Given the description of an element on the screen output the (x, y) to click on. 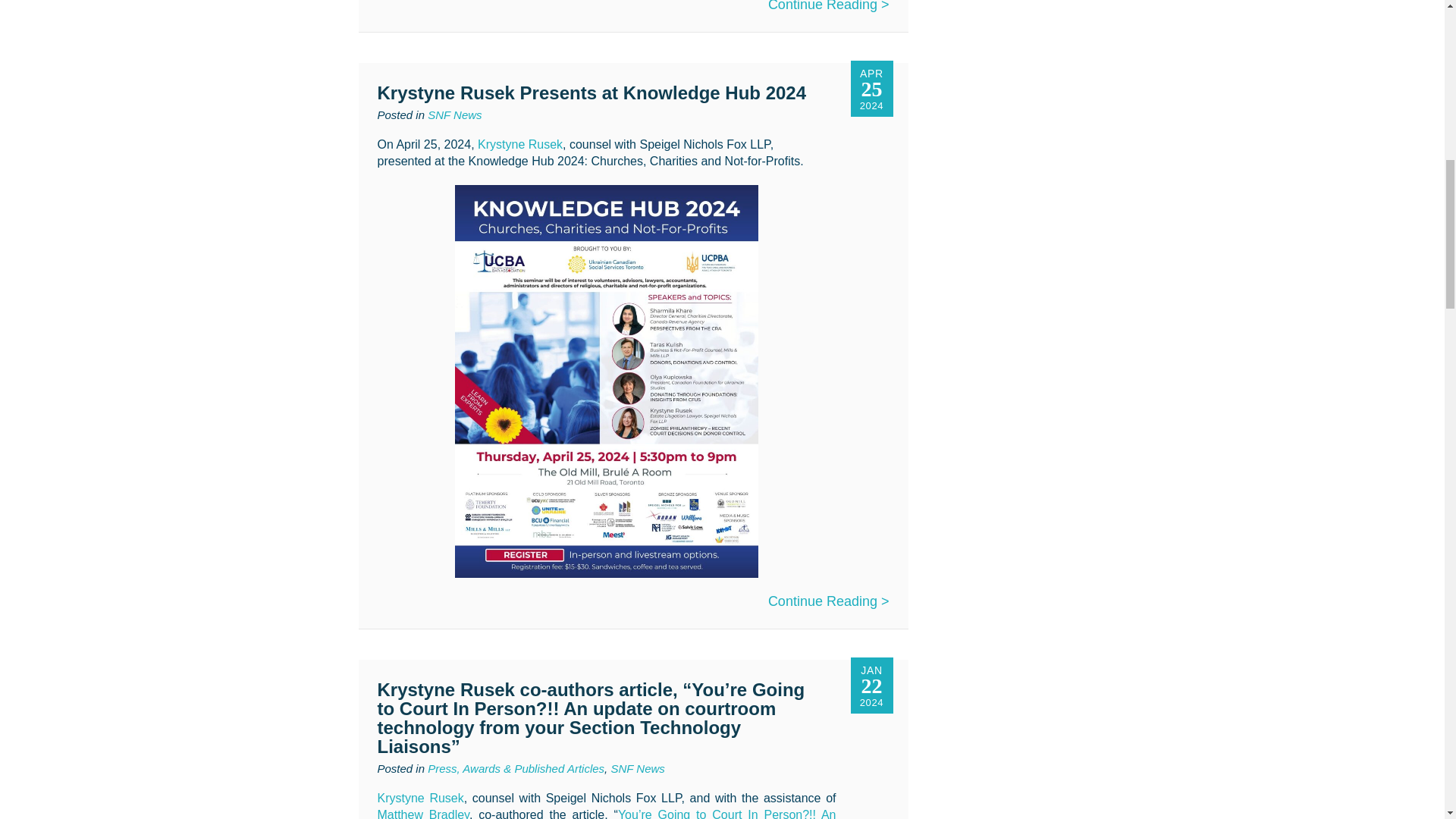
Krystyne Rusek Presents at Knowledge Hub 2024 (591, 92)
